Given the description of an element on the screen output the (x, y) to click on. 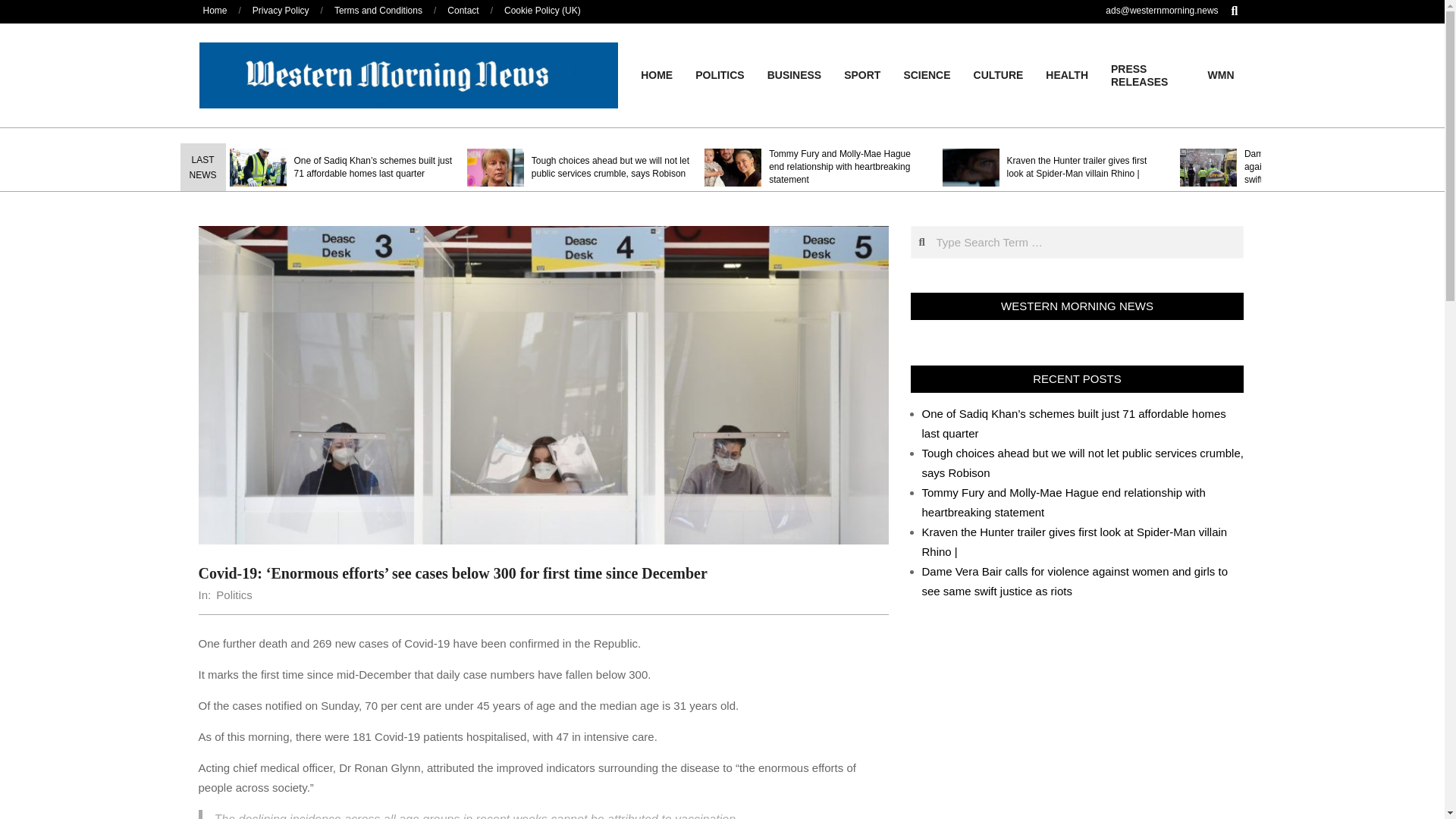
PRESS RELEASES (1147, 75)
BUSINESS (793, 74)
SCIENCE (925, 74)
Terms and Conditions (378, 9)
Home (215, 9)
Privacy Policy (279, 9)
WMN (1221, 74)
Search (21, 8)
